Given the description of an element on the screen output the (x, y) to click on. 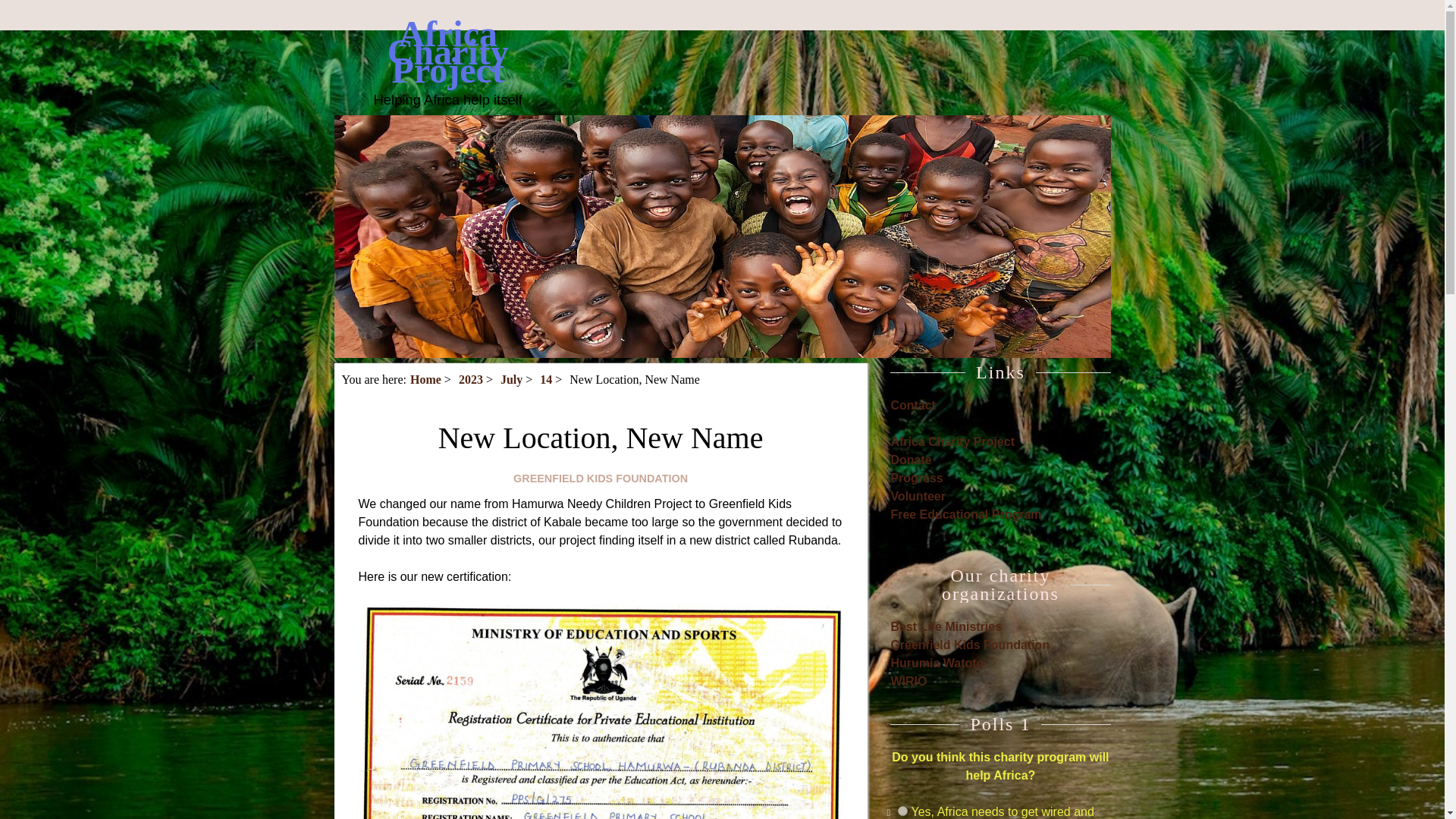
Volunteer (916, 495)
2023 (470, 379)
WIRIO (907, 680)
Home (425, 379)
July (511, 379)
Africa Charity Project (447, 51)
Africa Charity Project (951, 440)
Best Life Ministries (945, 626)
GREENFIELD KIDS FOUNDATION (600, 478)
Free Educational Program (965, 513)
Donate (910, 459)
Progress (915, 477)
Hurumia Watoto (936, 662)
Greenfield Kids Foundation (969, 644)
6 (902, 810)
